Given the description of an element on the screen output the (x, y) to click on. 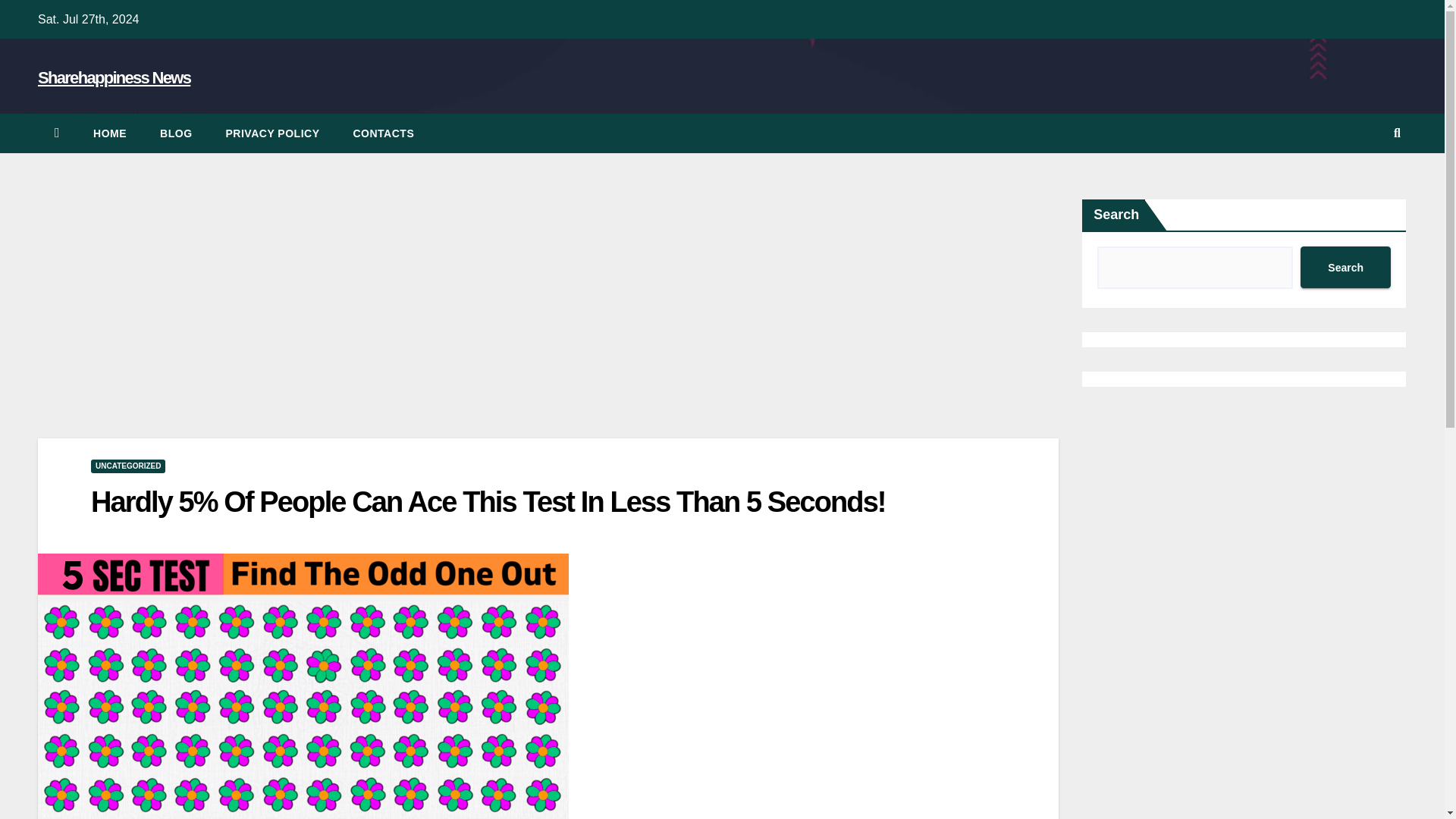
Search (1345, 267)
Contacts (383, 133)
PRIVACY POLICY (272, 133)
Home (109, 133)
BLOG (175, 133)
HOME (109, 133)
Blog (175, 133)
UNCATEGORIZED (127, 466)
Privacy Policy (272, 133)
Sharehappiness News (113, 76)
CONTACTS (383, 133)
